Given the description of an element on the screen output the (x, y) to click on. 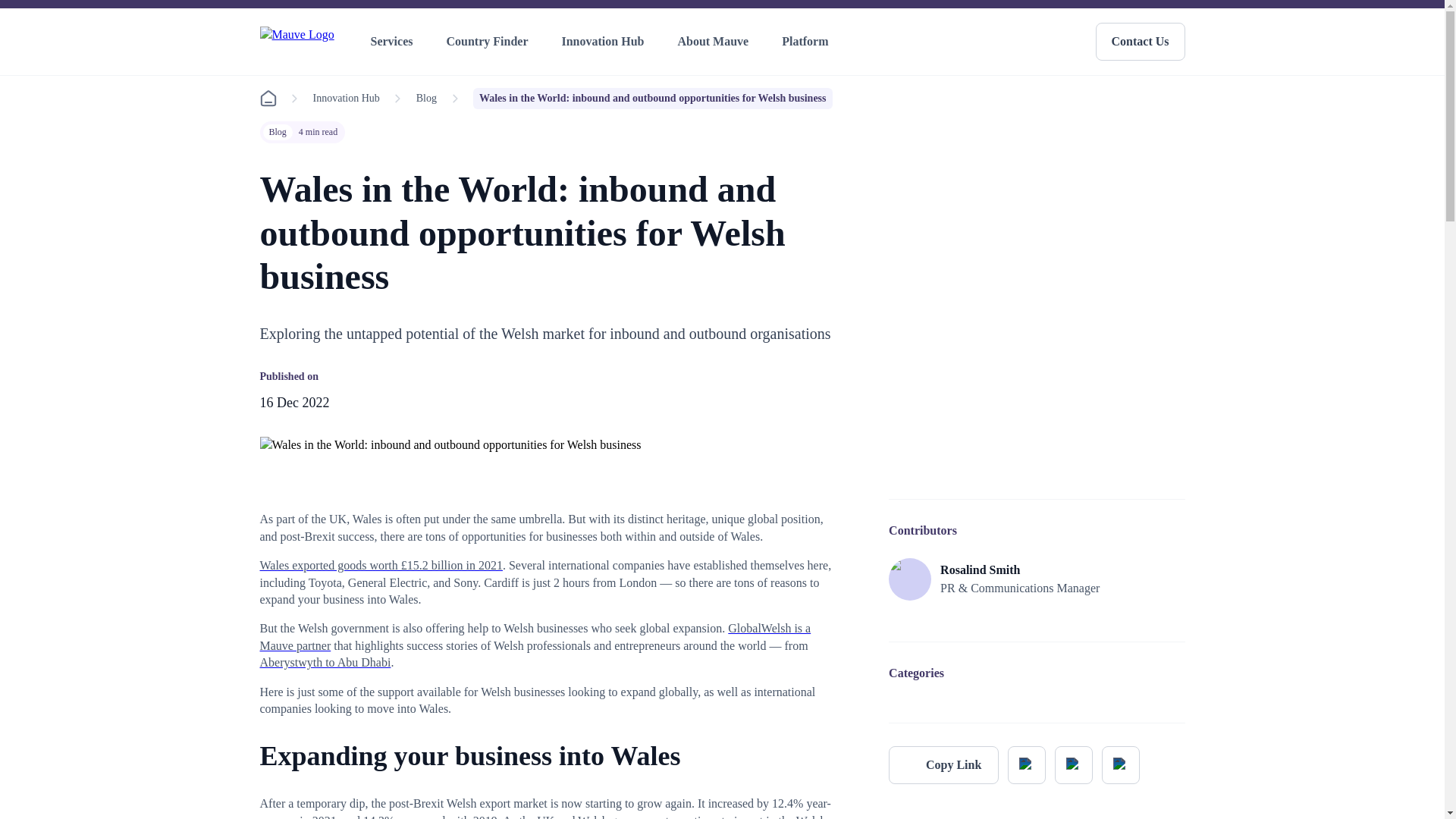
Platform (807, 41)
Country Finder (489, 41)
Innovation Hub (605, 41)
Services (394, 41)
About Mauve (716, 41)
Friday 16 December 2022 at 08:00:40 GMT (294, 402)
